Given the description of an element on the screen output the (x, y) to click on. 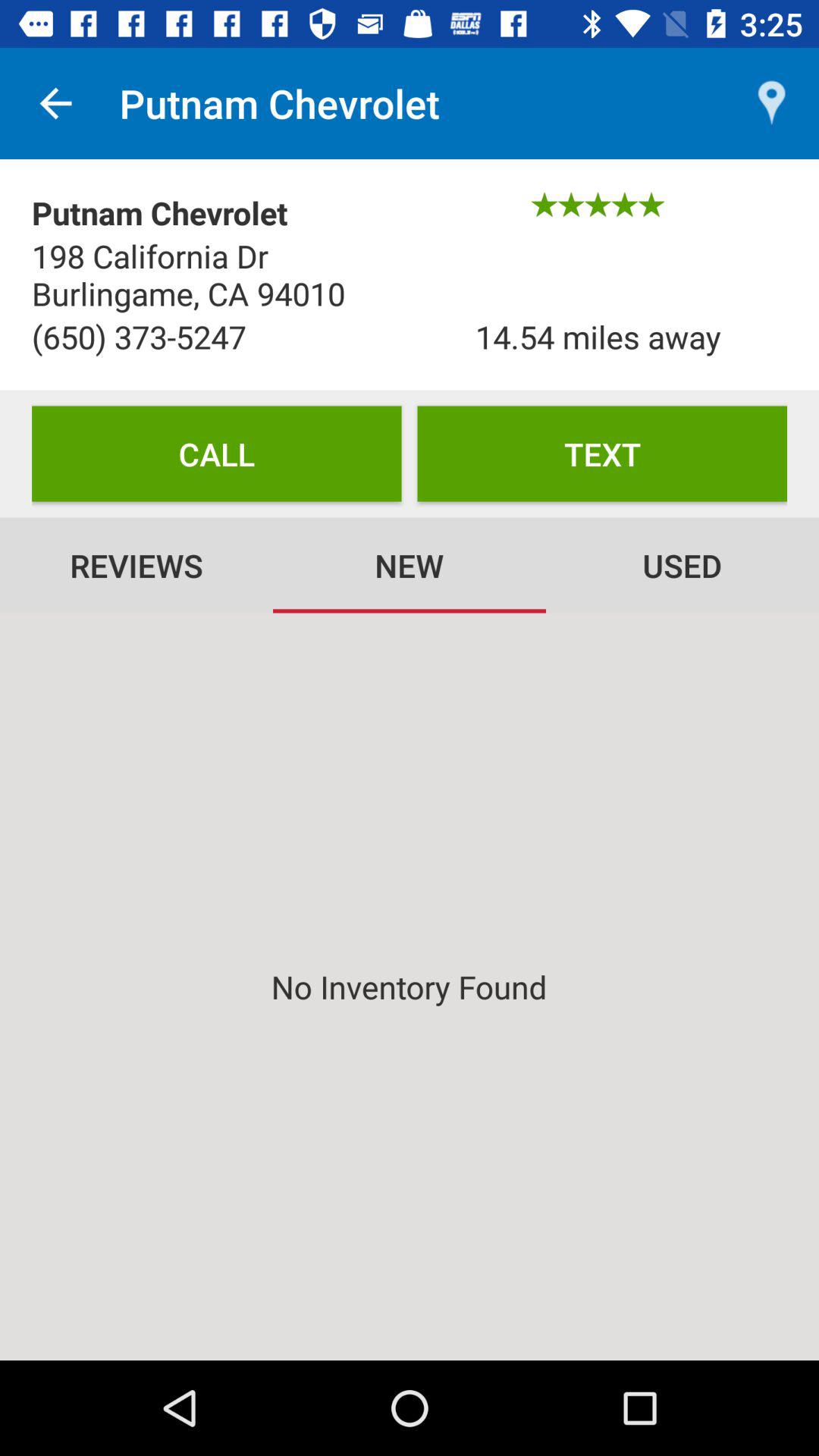
select item next to the text icon (216, 453)
